Given the description of an element on the screen output the (x, y) to click on. 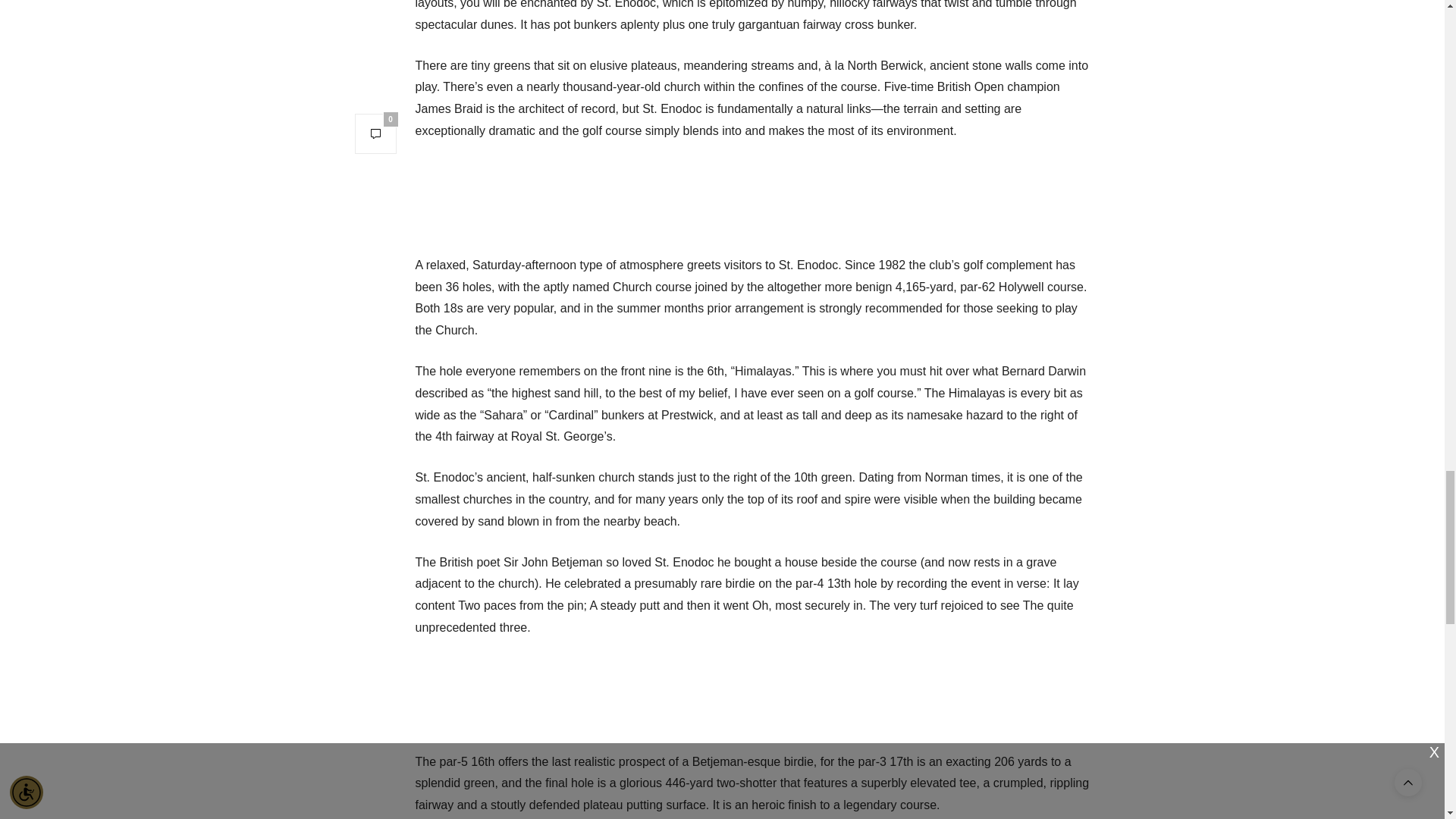
3rd party ad content (751, 692)
3rd party ad content (751, 195)
